Given the description of an element on the screen output the (x, y) to click on. 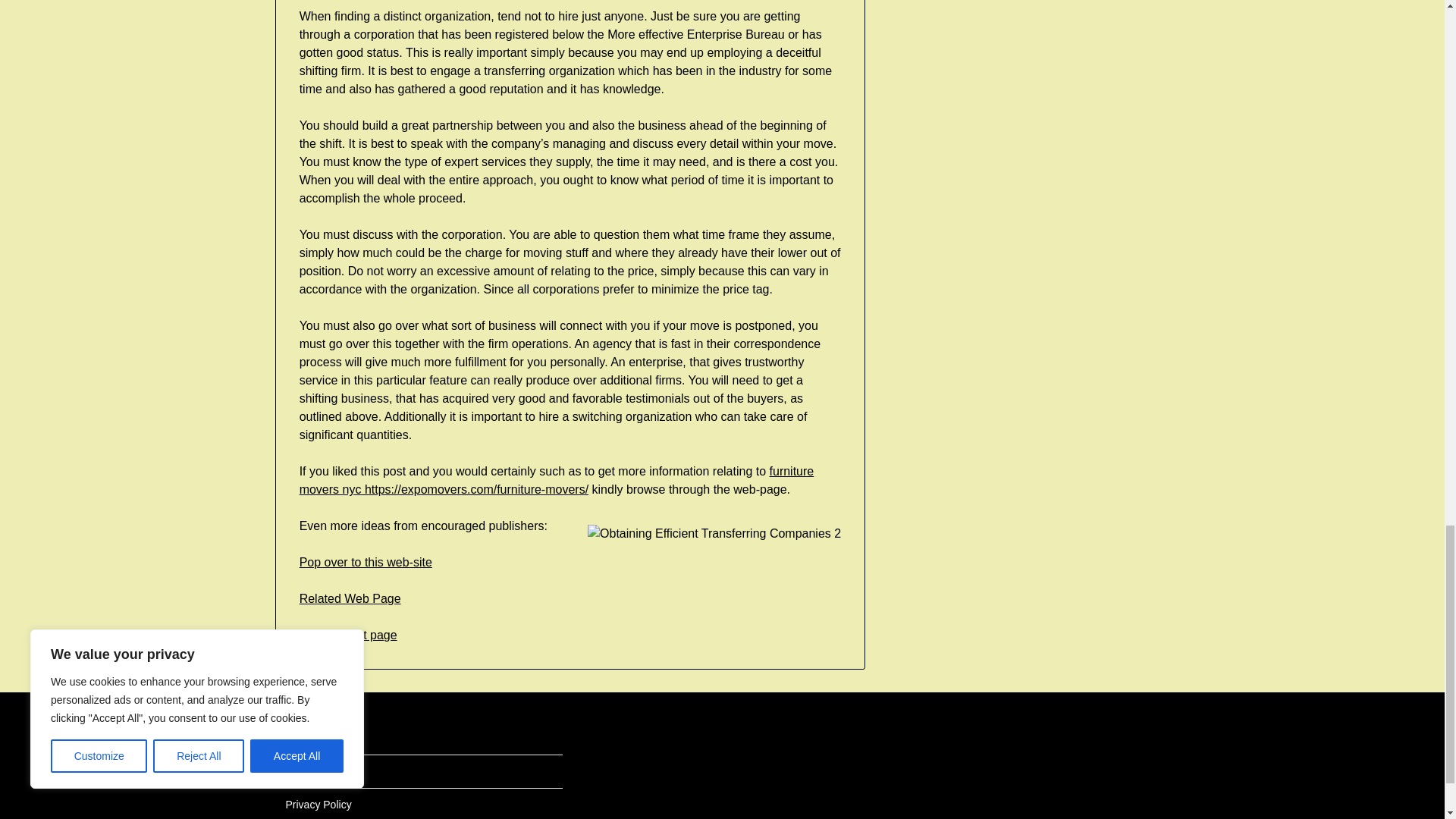
Pop over to this web-site (365, 562)
Related Web Page (350, 598)
visit the next page (348, 634)
